Given the description of an element on the screen output the (x, y) to click on. 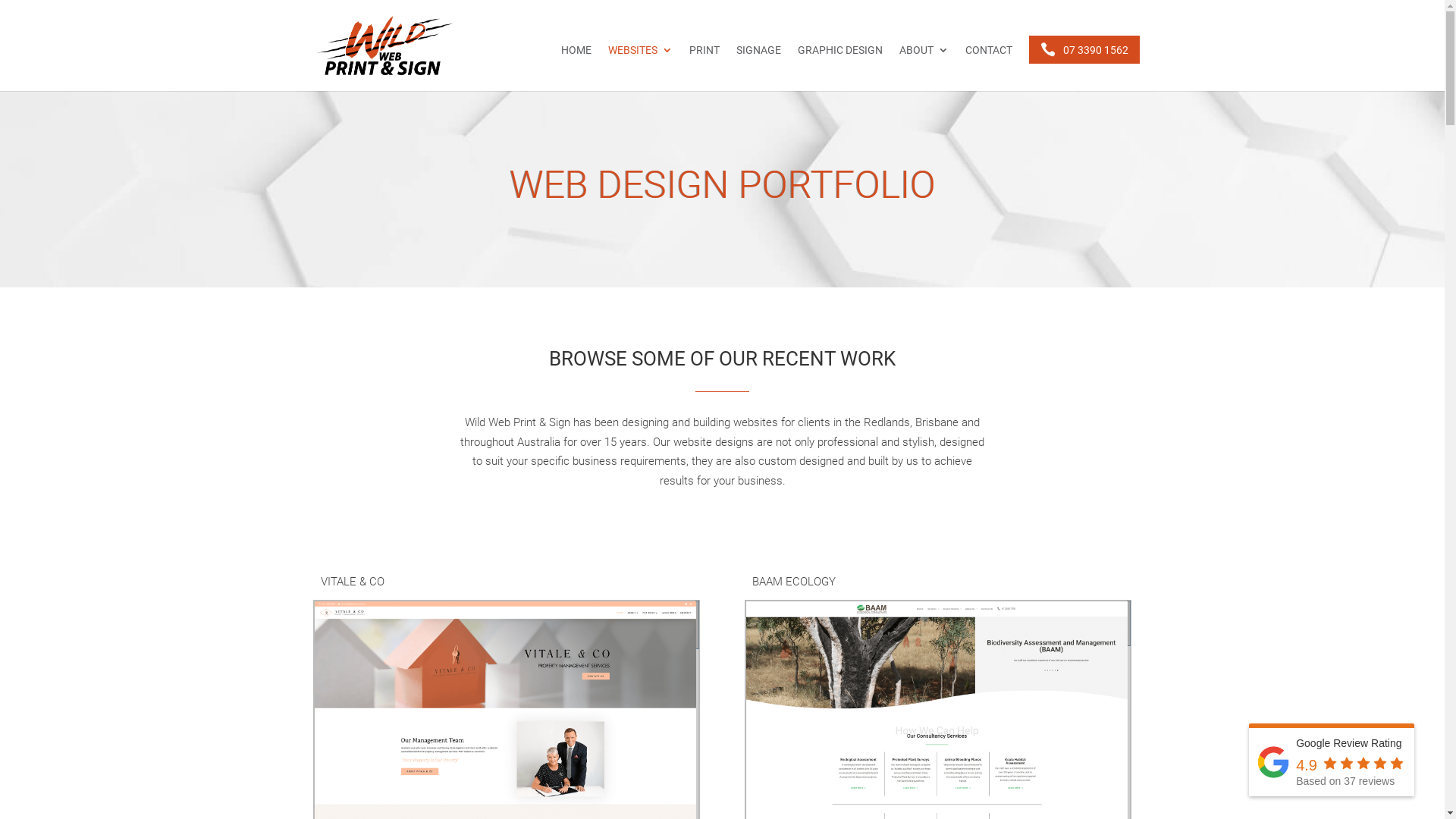
PRINT Element type: text (703, 67)
ABOUT Element type: text (923, 67)
Wild Web Print & Sign Element type: hover (1272, 761)
07 3390 1562 Element type: text (1083, 49)
GRAPHIC DESIGN Element type: text (839, 67)
HOME Element type: text (576, 67)
WEBSITES Element type: text (640, 67)
CONTACT Element type: text (987, 67)
SIGNAGE Element type: text (757, 67)
